Given the description of an element on the screen output the (x, y) to click on. 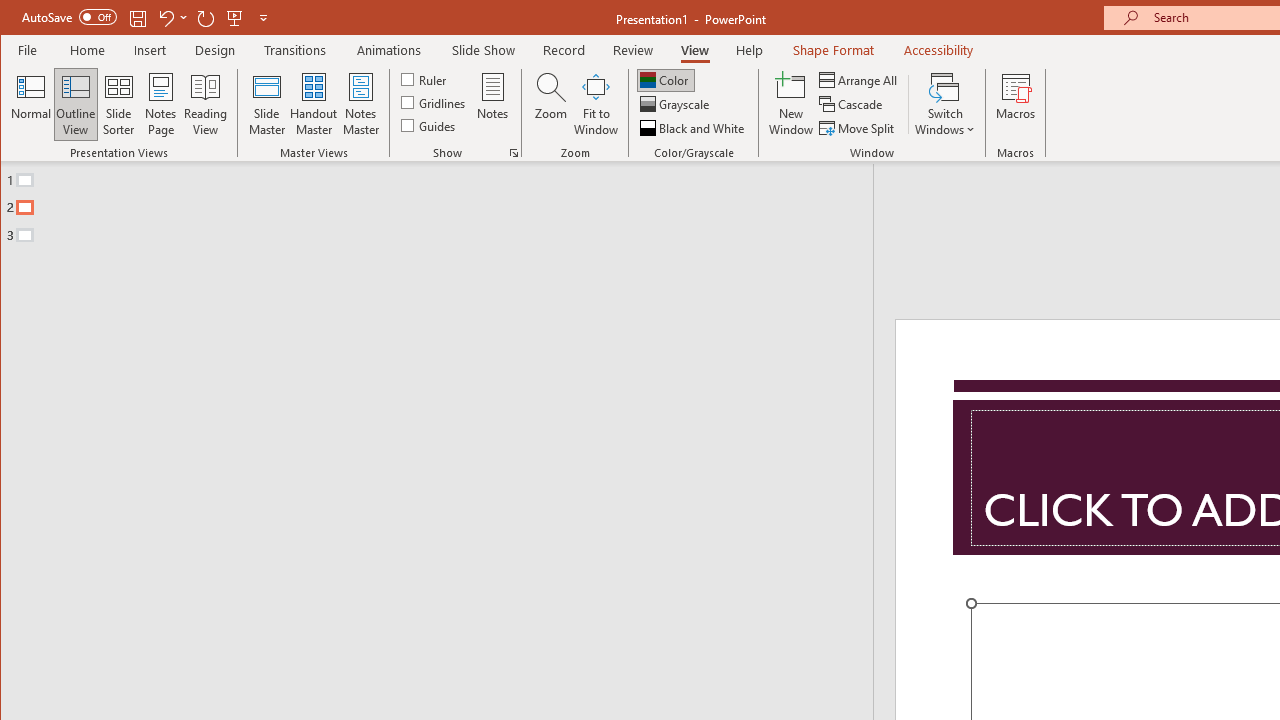
Notes Page (160, 104)
More Options (183, 17)
Move Split (858, 127)
Help (749, 50)
Outline View (75, 104)
